Given the description of an element on the screen output the (x, y) to click on. 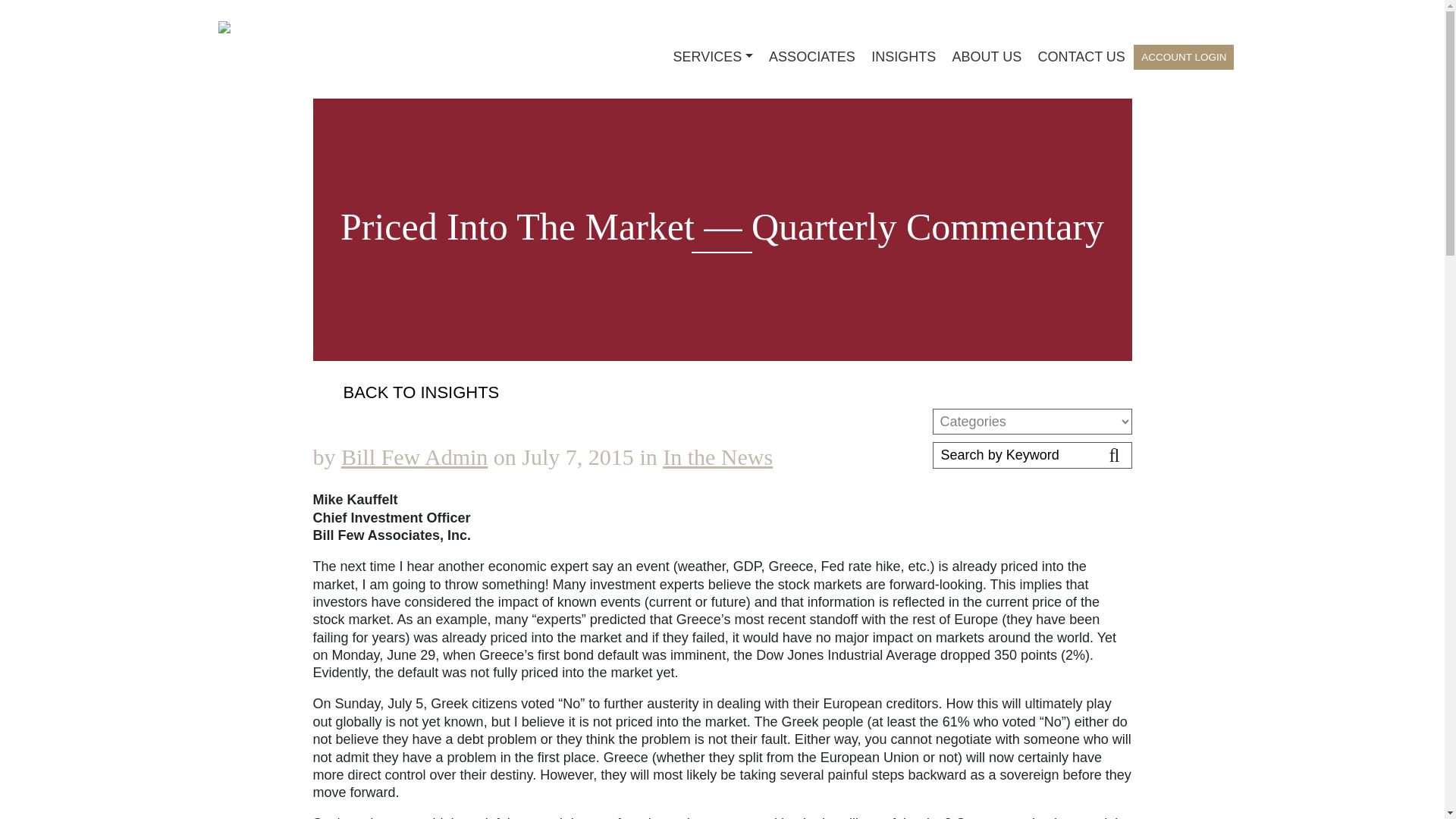
CONTACT US (1080, 59)
ACCOUNT LOGIN (1183, 57)
ABOUT US (986, 59)
Insights (903, 59)
Services (712, 59)
Contact Us (1080, 59)
BACK TO INSIGHTS (722, 392)
About Us (986, 59)
INSIGHTS (903, 59)
In the News (717, 456)
